Given the description of an element on the screen output the (x, y) to click on. 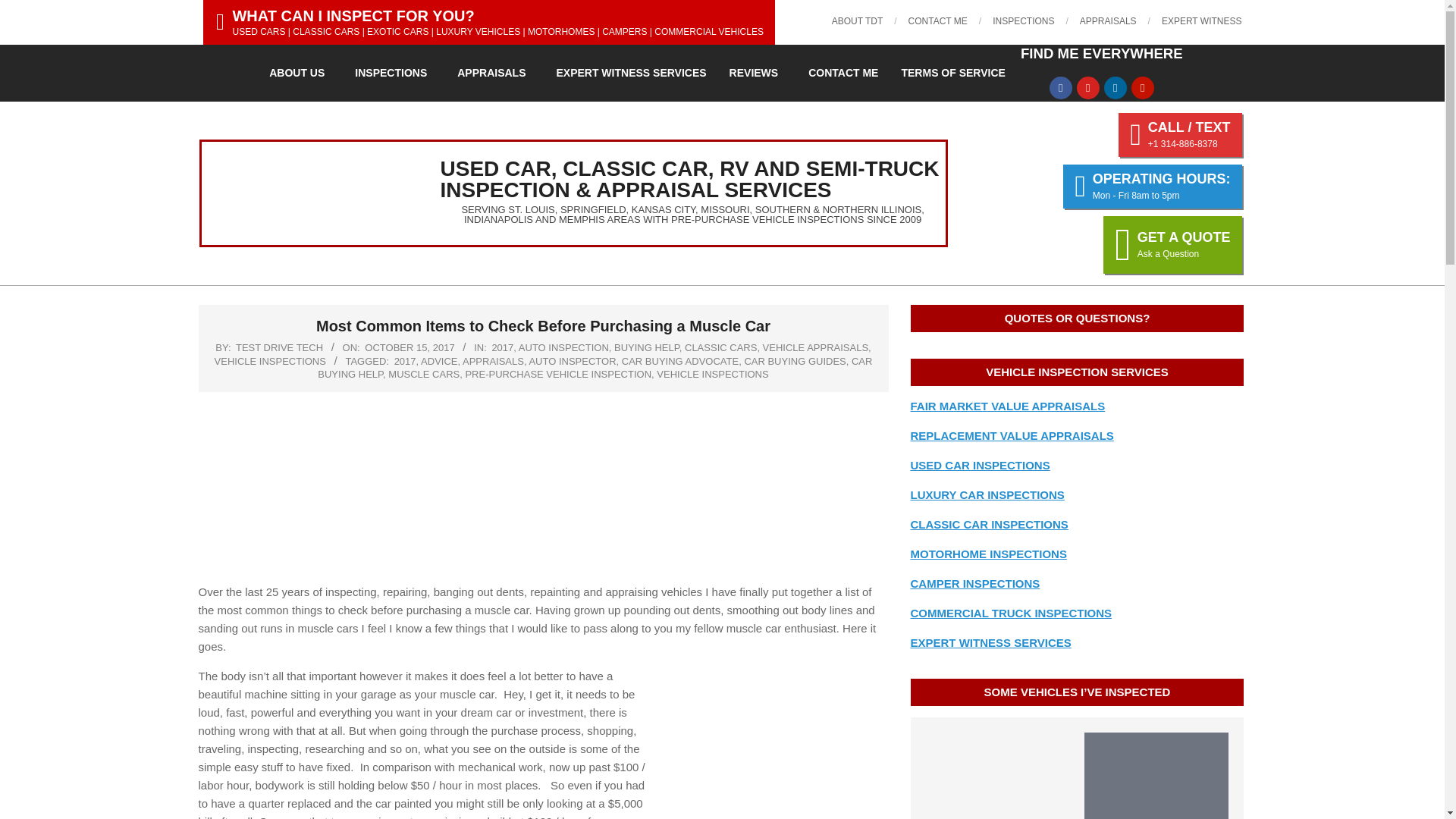
Sunday, October 15, 2017, 12:21 am (409, 346)
AUTO INSPECTION (563, 346)
ABOUT TDT (857, 20)
ABOUT US (300, 72)
APPRAISALS (1108, 20)
REVIEWS (757, 72)
EXPERT WITNESS (1201, 20)
TERMS OF SERVICE (952, 72)
CONTACT ME (938, 20)
EXPERT WITNESS SERVICES (630, 72)
CONTACT ME (842, 72)
Posts by Test Drive Tech (279, 346)
INSPECTIONS (1023, 20)
2017 (502, 346)
